Given the description of an element on the screen output the (x, y) to click on. 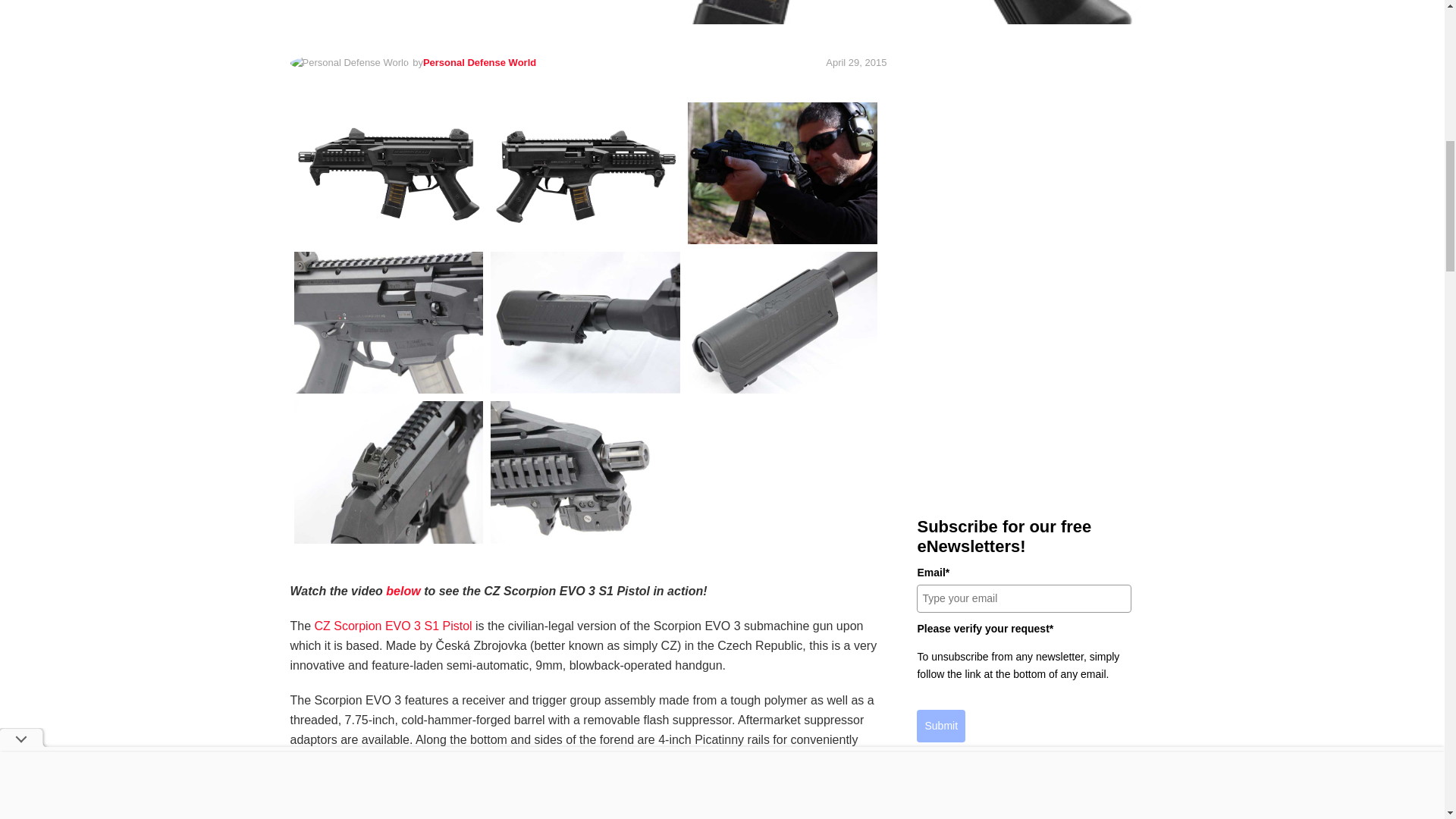
3rd party ad content (1024, 156)
3rd party ad content (1024, 376)
